Given the description of an element on the screen output the (x, y) to click on. 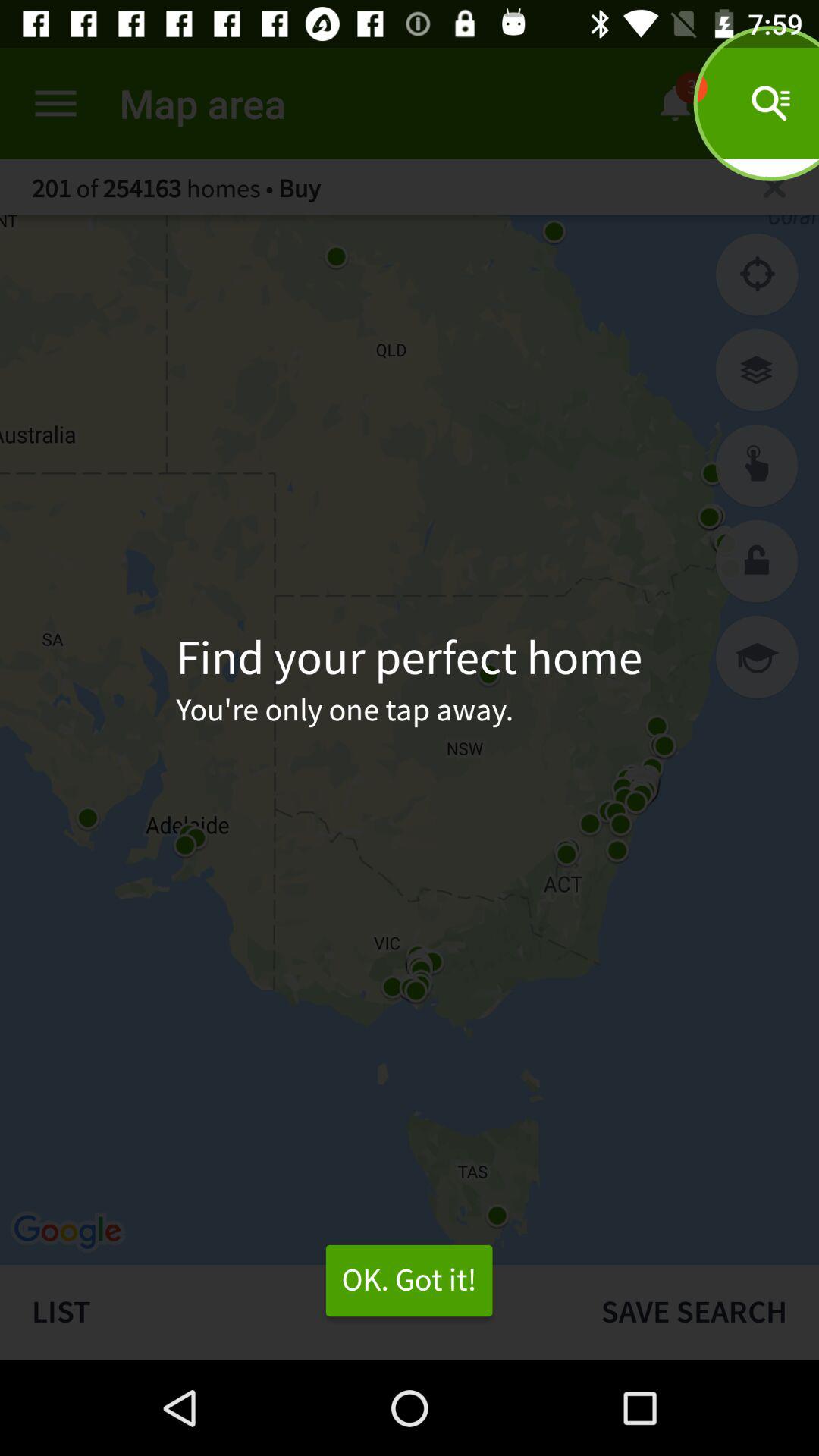
search (774, 186)
